Given the description of an element on the screen output the (x, y) to click on. 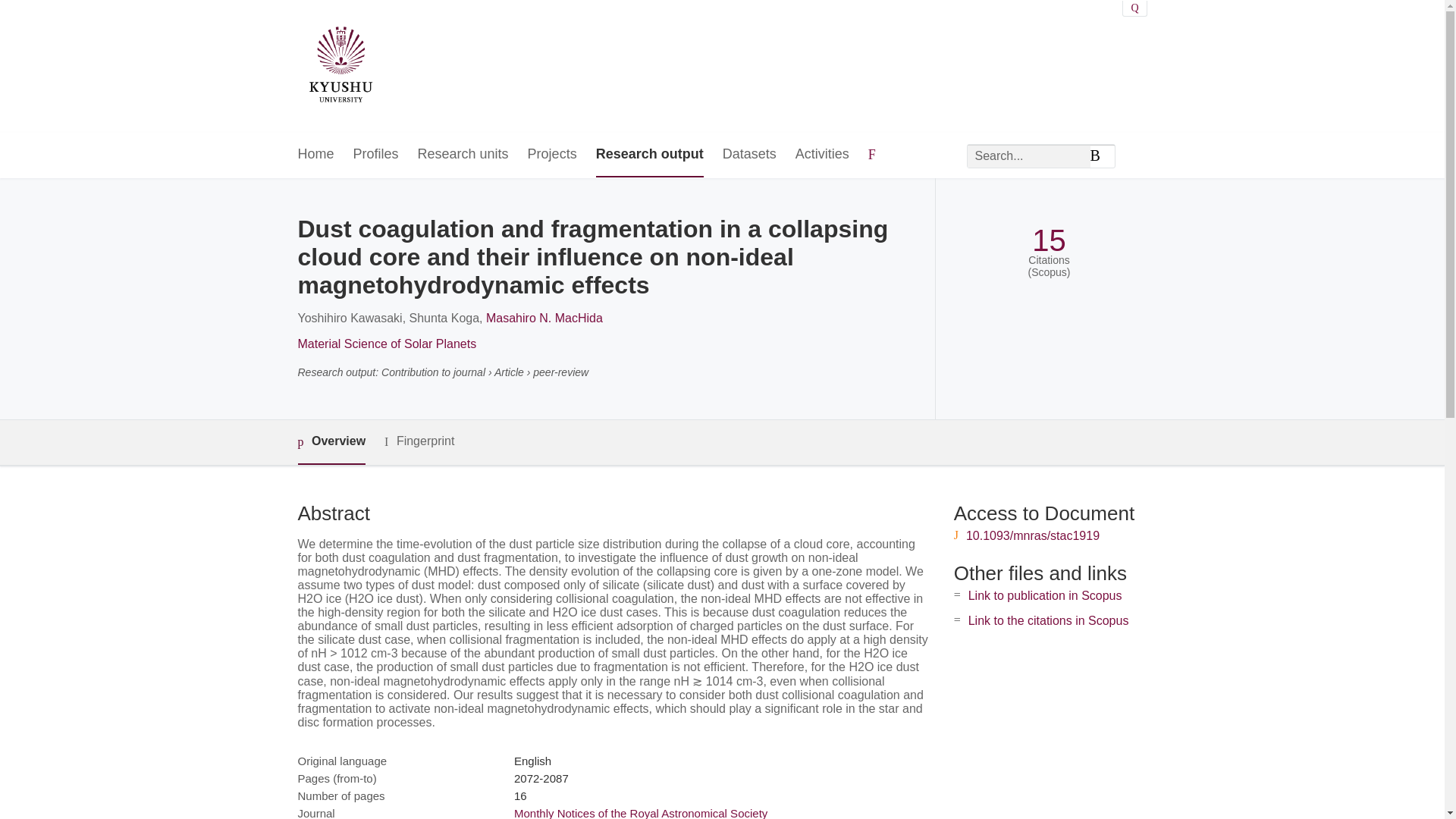
Link to publication in Scopus (1045, 594)
Datasets (749, 154)
Research output (649, 154)
Activities (821, 154)
Fingerprint (419, 441)
Link to the citations in Scopus (1048, 620)
Masahiro N. MacHida (544, 318)
Research units (462, 154)
Profiles (375, 154)
Overview (331, 442)
Monthly Notices of the Royal Astronomical Society (640, 812)
Material Science of Solar Planets (386, 343)
Projects (551, 154)
15 (1048, 240)
